Given the description of an element on the screen output the (x, y) to click on. 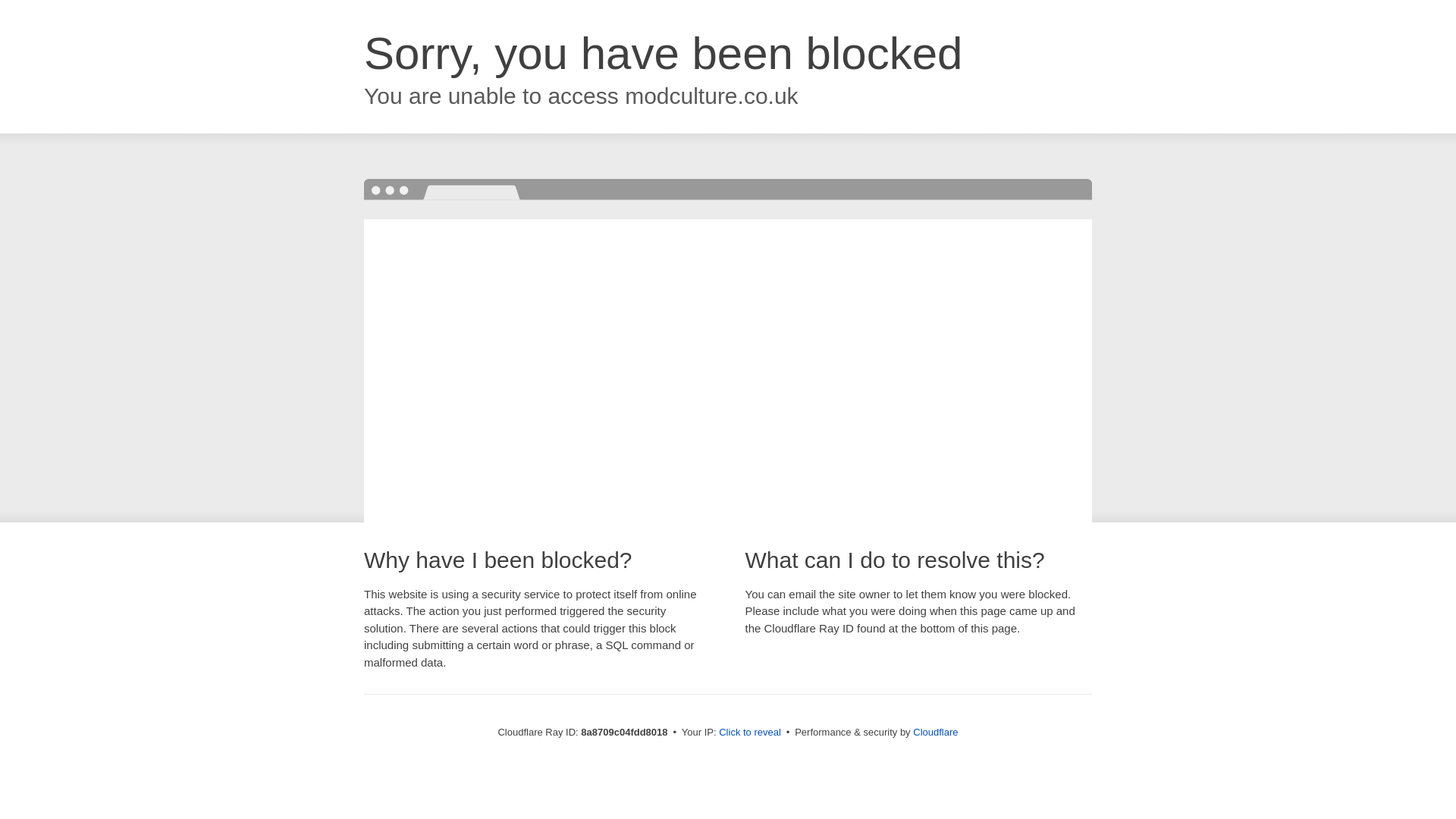
Cloudflare (935, 731)
Click to reveal (749, 732)
